Given the description of an element on the screen output the (x, y) to click on. 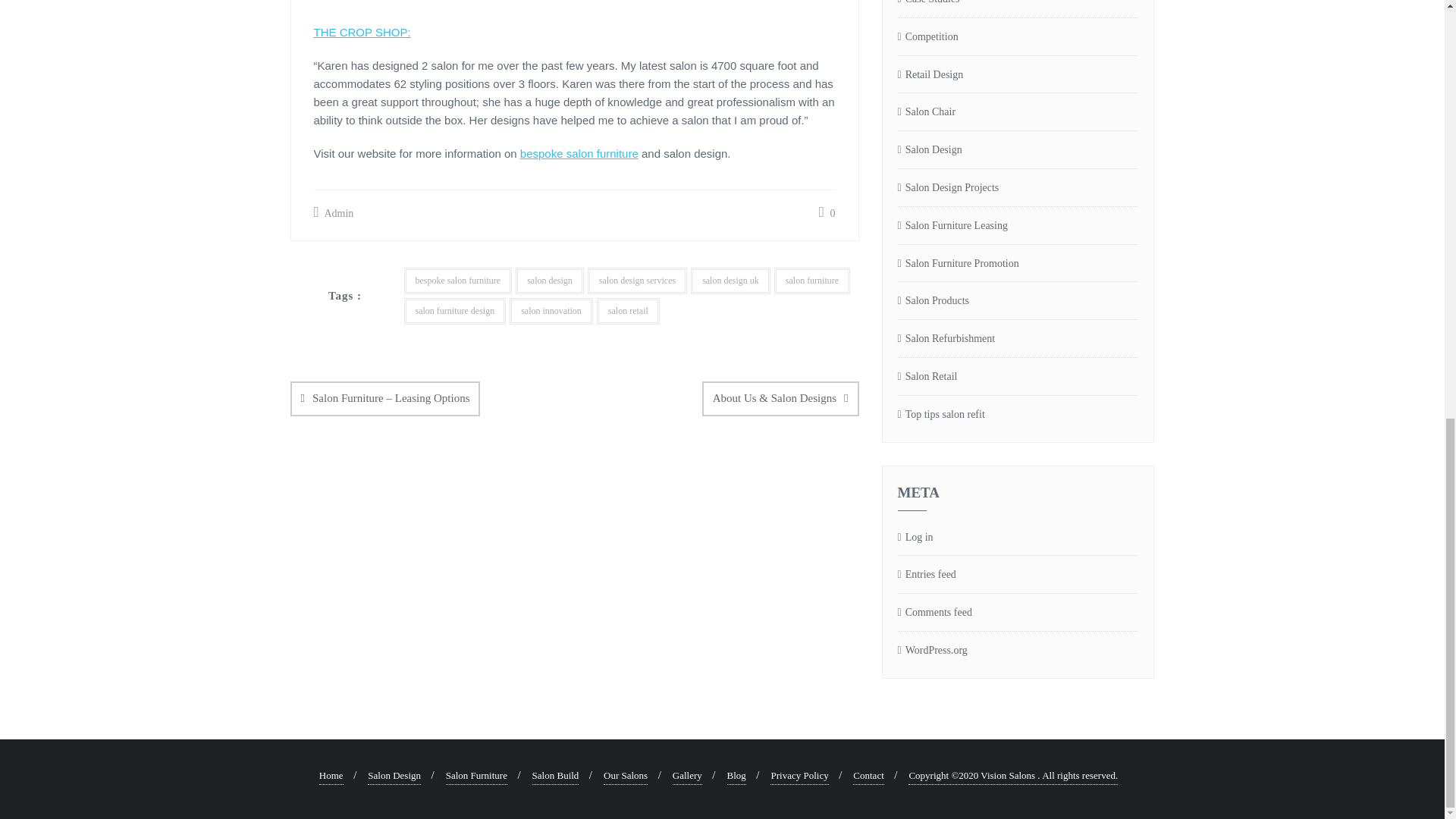
Retail Design (930, 74)
salon design (549, 280)
THE CROP SHOP: (362, 31)
Salon Chair (927, 112)
salon furniture design (454, 311)
salon innovation (550, 311)
salon design uk (730, 280)
Admin (333, 212)
bespoke salon furniture (457, 280)
salon design services (637, 280)
